Given the description of an element on the screen output the (x, y) to click on. 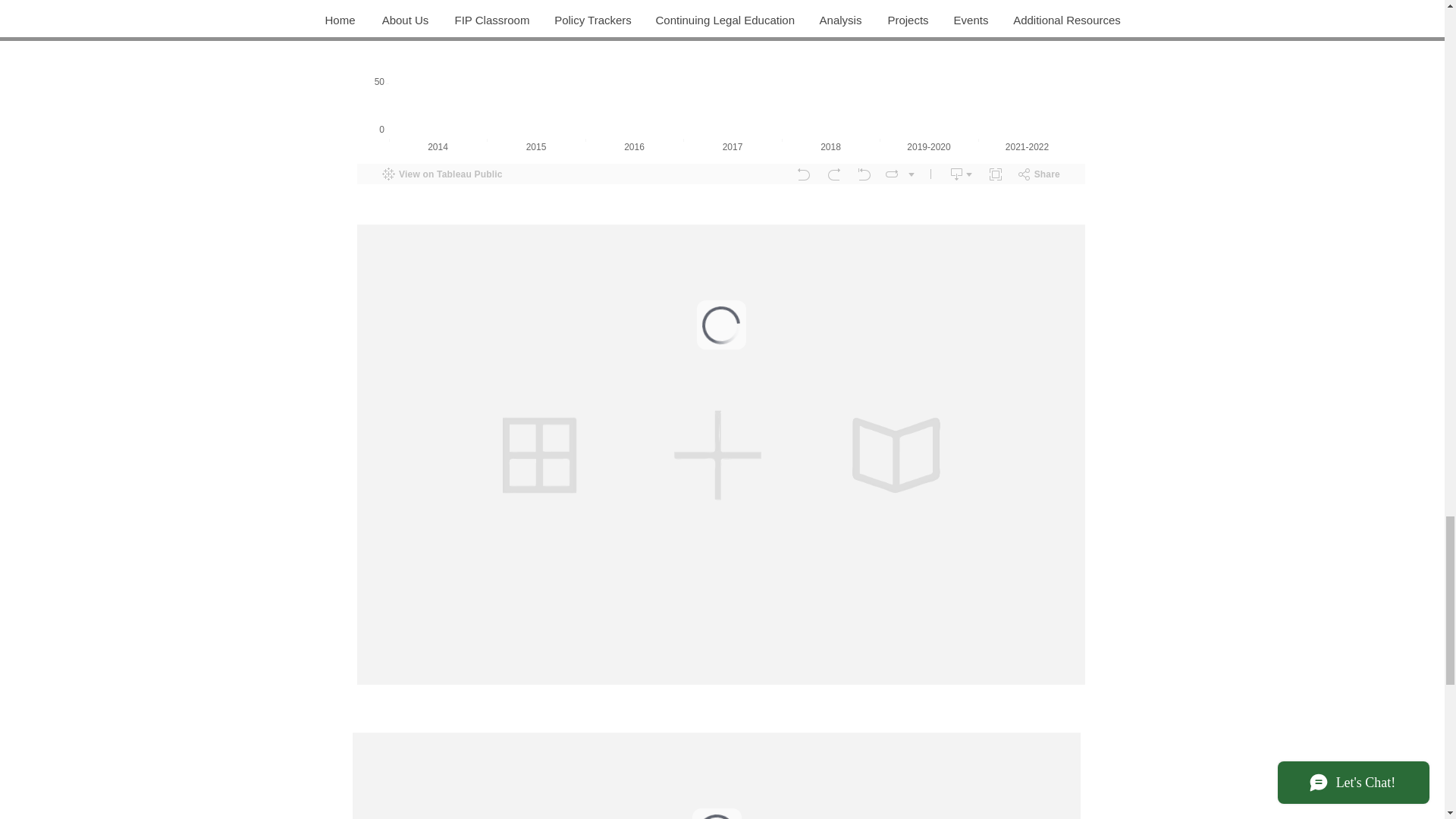
Embedded Content (721, 772)
